Given the description of an element on the screen output the (x, y) to click on. 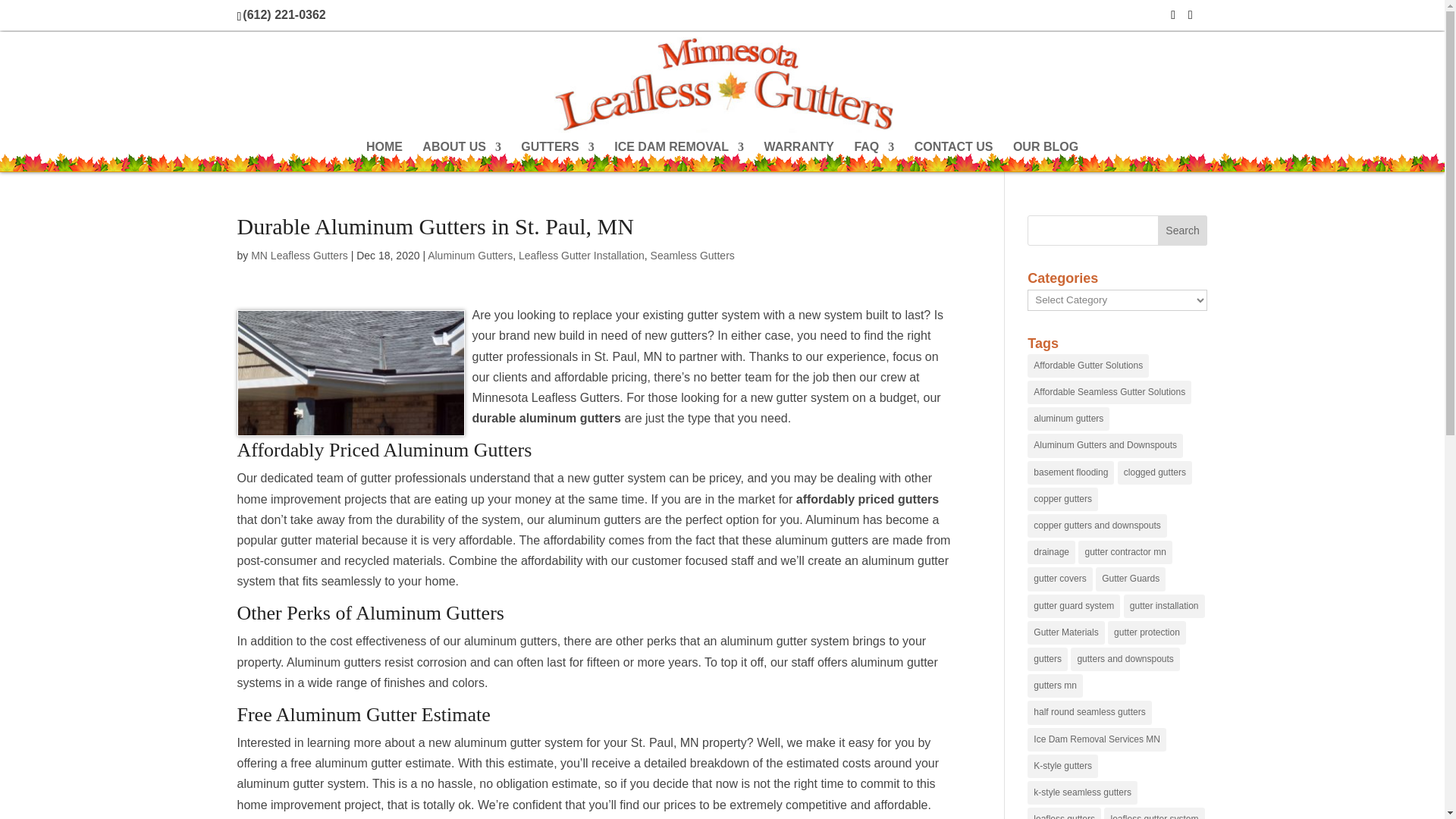
OUR BLOG (1045, 156)
CONTACT US (953, 156)
Durable Aluminum Gutters in St. Paul, MN (349, 372)
Posts by MN Leafless Gutters (298, 255)
ABOUT US (461, 156)
FAQ (873, 156)
Search (1182, 230)
WARRANTY (799, 156)
HOME (384, 156)
GUTTERS (557, 156)
ICE DAM REMOVAL (679, 156)
